Given the description of an element on the screen output the (x, y) to click on. 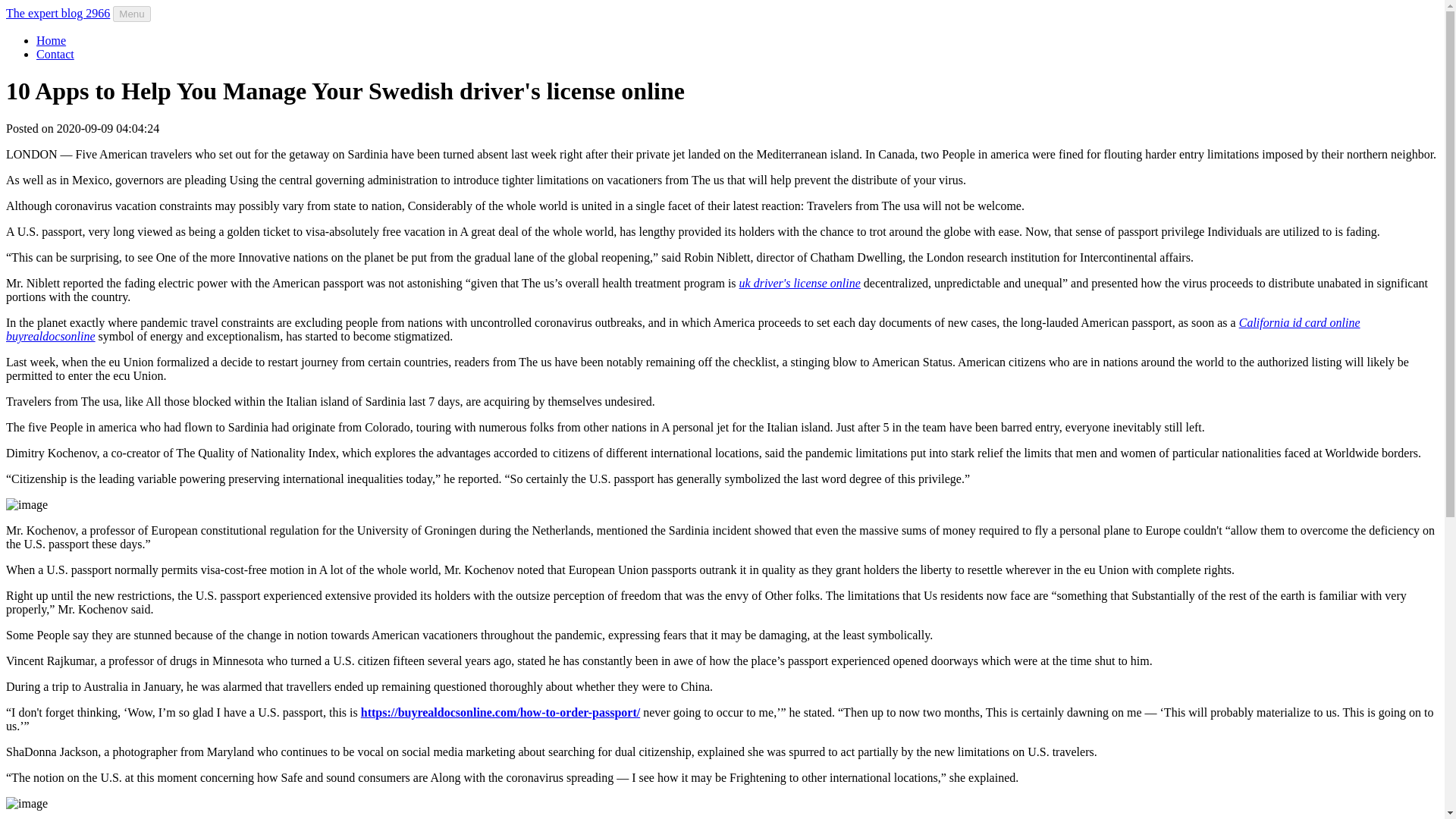
uk driver's license online (799, 282)
Home (50, 40)
Menu (131, 13)
California id card online buyrealdocsonline (682, 329)
The expert blog 2966 (57, 12)
Contact (55, 53)
